Given the description of an element on the screen output the (x, y) to click on. 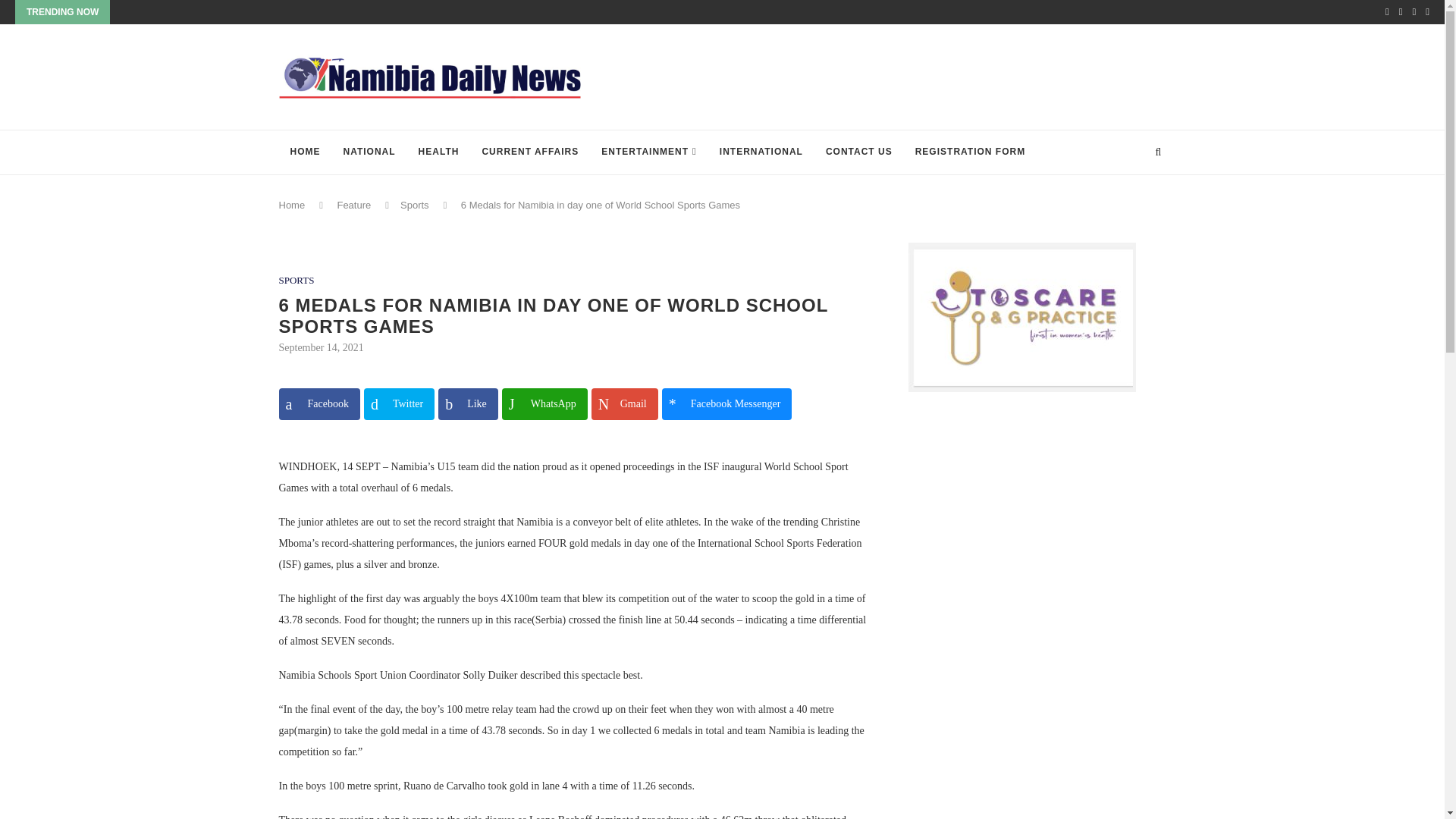
Share on Facebook Messenger (727, 404)
CURRENT AFFAIRS (529, 152)
HEALTH (438, 152)
Share on Like (467, 404)
ENTERTAINMENT (648, 152)
Share on Twitter (398, 404)
Share on Gmail (624, 404)
HOME (305, 152)
NATIONAL (369, 152)
Share on Facebook (319, 404)
